Given the description of an element on the screen output the (x, y) to click on. 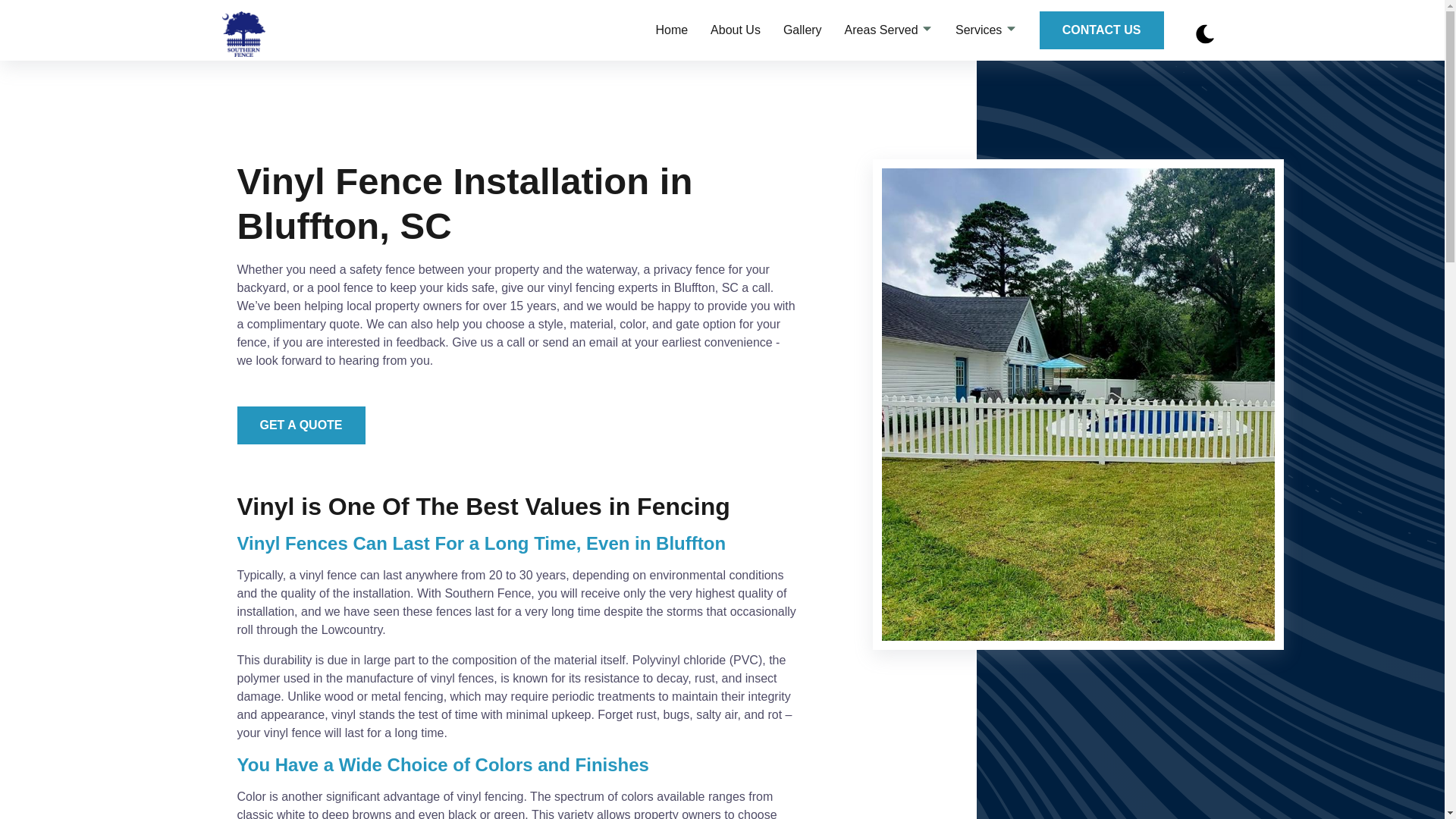
Home (671, 29)
About Us (735, 29)
Gallery (802, 29)
